Given the description of an element on the screen output the (x, y) to click on. 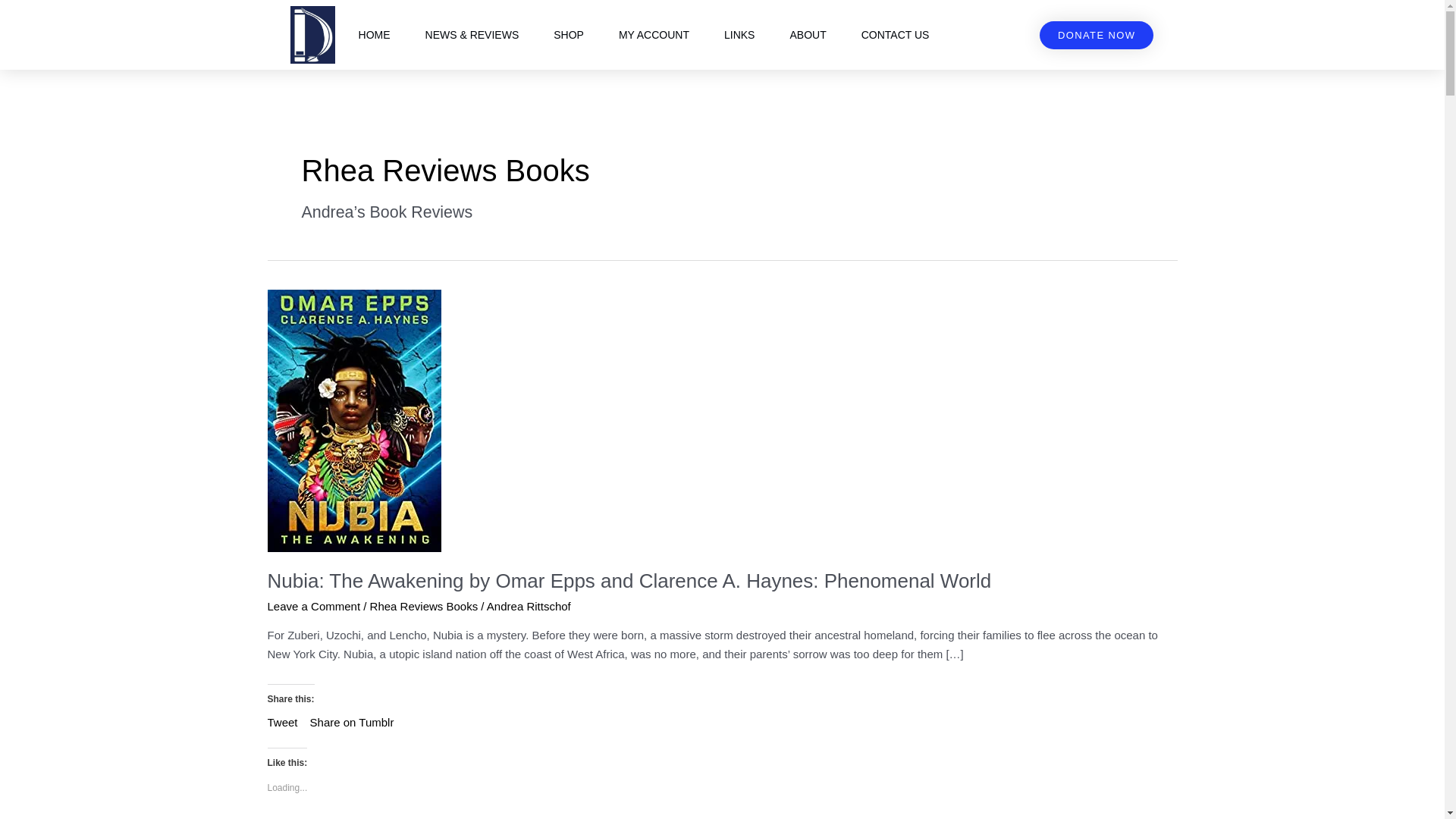
ABOUT (807, 34)
DONATE NOW (1096, 35)
CONTACT US (894, 34)
Share on Tumblr (352, 720)
Andrea Rittschof (528, 605)
MY ACCOUNT (654, 34)
Share on Tumblr (352, 720)
Leave a Comment (312, 605)
Rhea Reviews Books (424, 605)
